Given the description of an element on the screen output the (x, y) to click on. 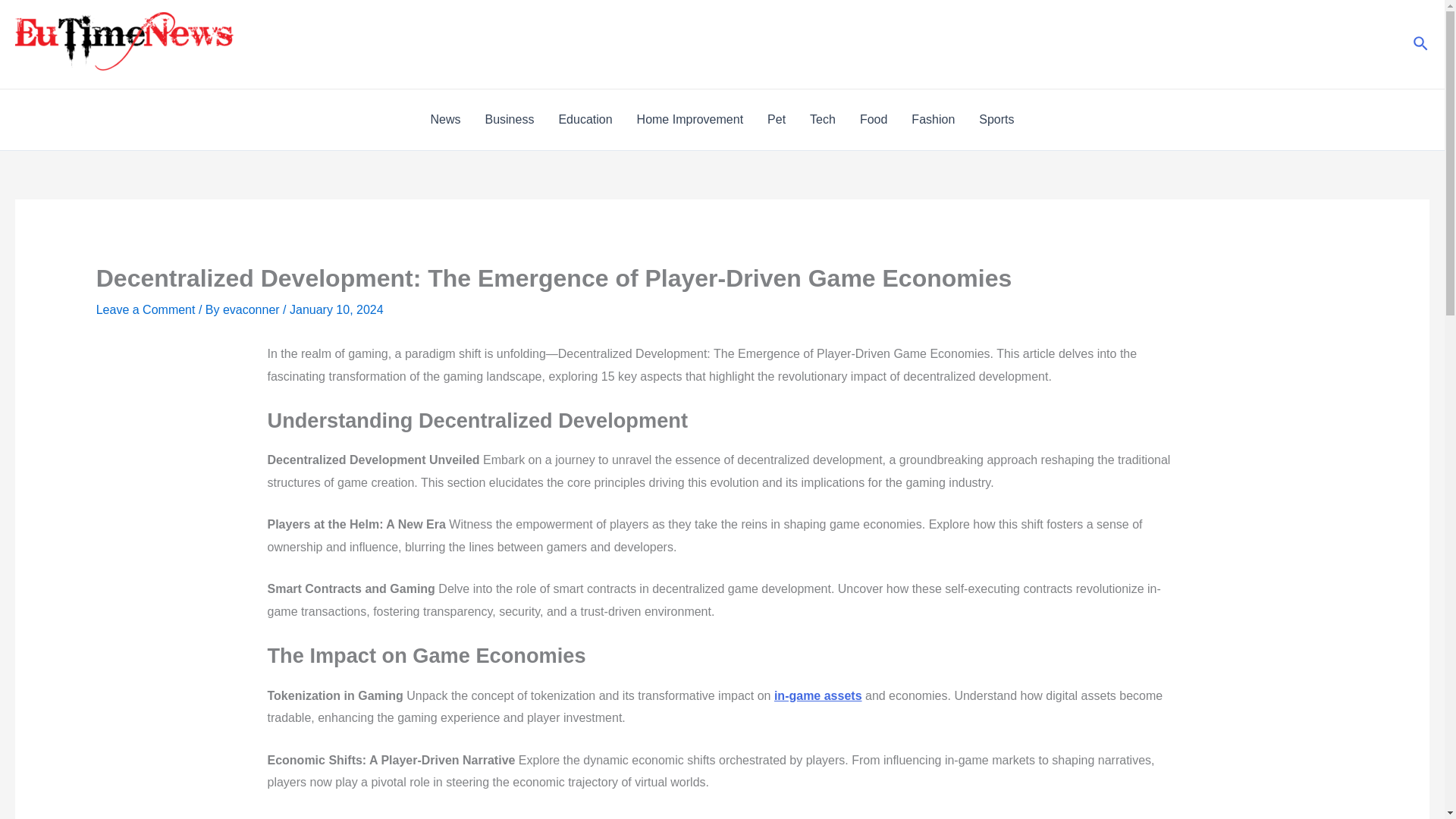
Home Improvement (689, 119)
Sports (996, 119)
in-game assets (817, 695)
News (444, 119)
View all posts by evaconner (252, 309)
evaconner (252, 309)
Fashion (932, 119)
Leave a Comment (145, 309)
Education (585, 119)
Business (508, 119)
